Given the description of an element on the screen output the (x, y) to click on. 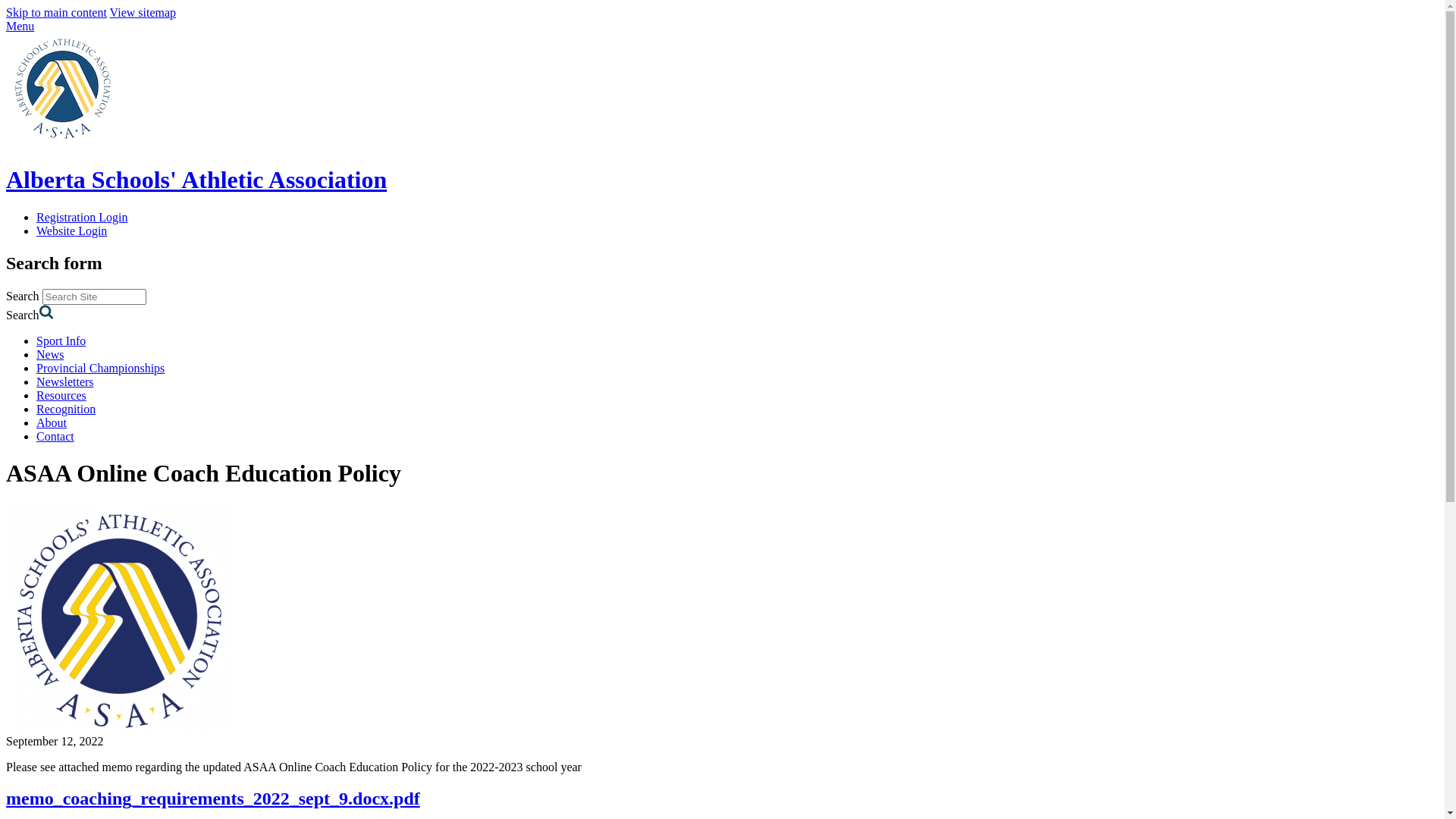
Sport Info Element type: text (60, 340)
Recognition Element type: text (65, 408)
Provincial Championships Element type: text (100, 367)
View sitemap Element type: text (142, 12)
Website Login Element type: text (71, 230)
Skip to main content Element type: text (56, 12)
Newsletters Element type: text (65, 381)
Resources Element type: text (61, 395)
Enter the terms you wish to search for. Element type: hover (94, 296)
memo_coaching_requirements_2022_sept_9.docx.pdf Element type: text (213, 798)
Search Element type: hover (46, 311)
Menu Element type: text (20, 25)
Contact Element type: text (55, 435)
News Element type: text (49, 354)
Alberta Schools' Athletic Association Element type: hover (62, 142)
Alberta Schools' Athletic Association Element type: text (722, 194)
Registration Login Element type: text (81, 216)
About Element type: text (51, 422)
